Given the description of an element on the screen output the (x, y) to click on. 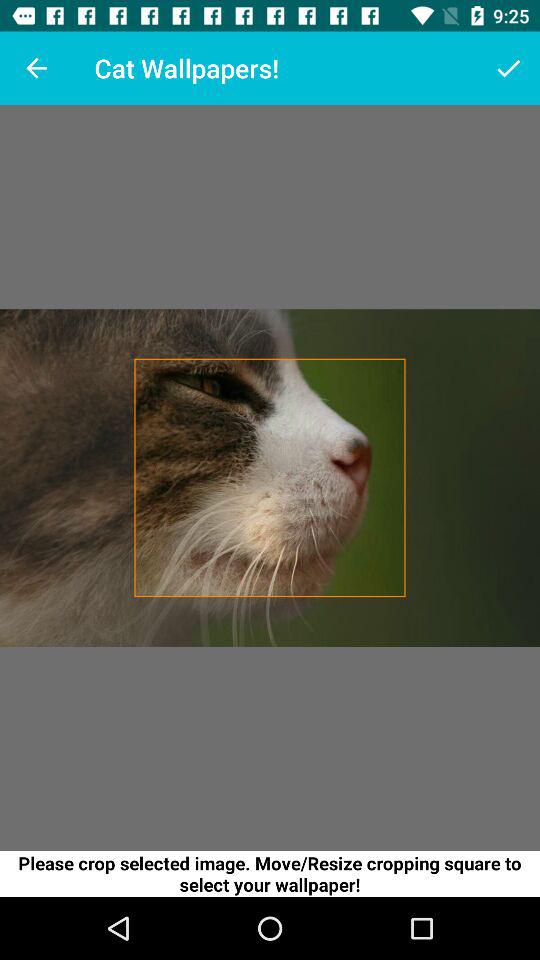
turn off the item at the top left corner (36, 68)
